Given the description of an element on the screen output the (x, y) to click on. 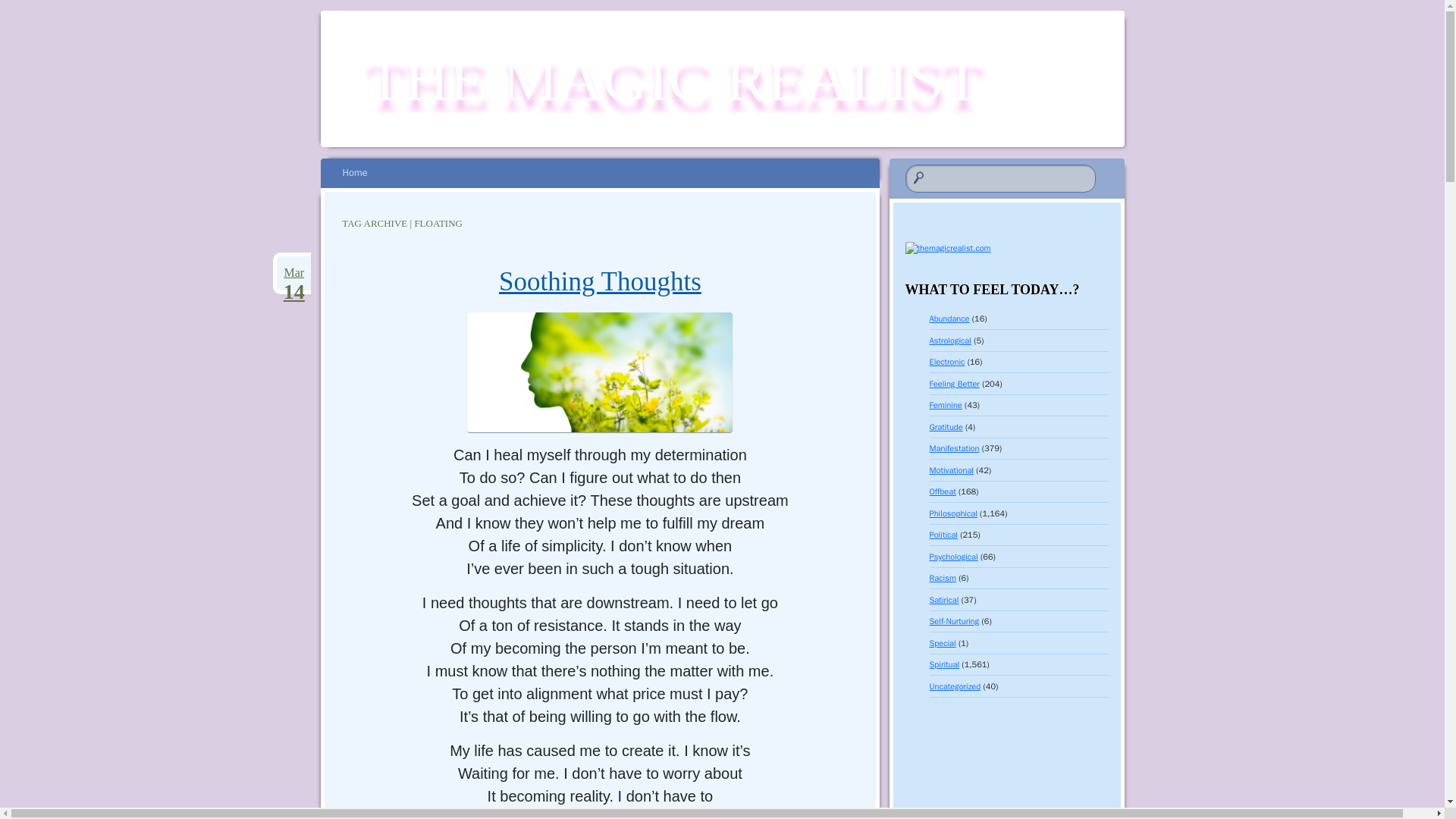
Home (354, 173)
Skip to content (362, 173)
March 14, 2024 (293, 272)
The  Magic  Realist (674, 79)
Soothing Thoughts (600, 281)
THE MAGIC REALIST (674, 79)
Skip to content (293, 272)
